Given the description of an element on the screen output the (x, y) to click on. 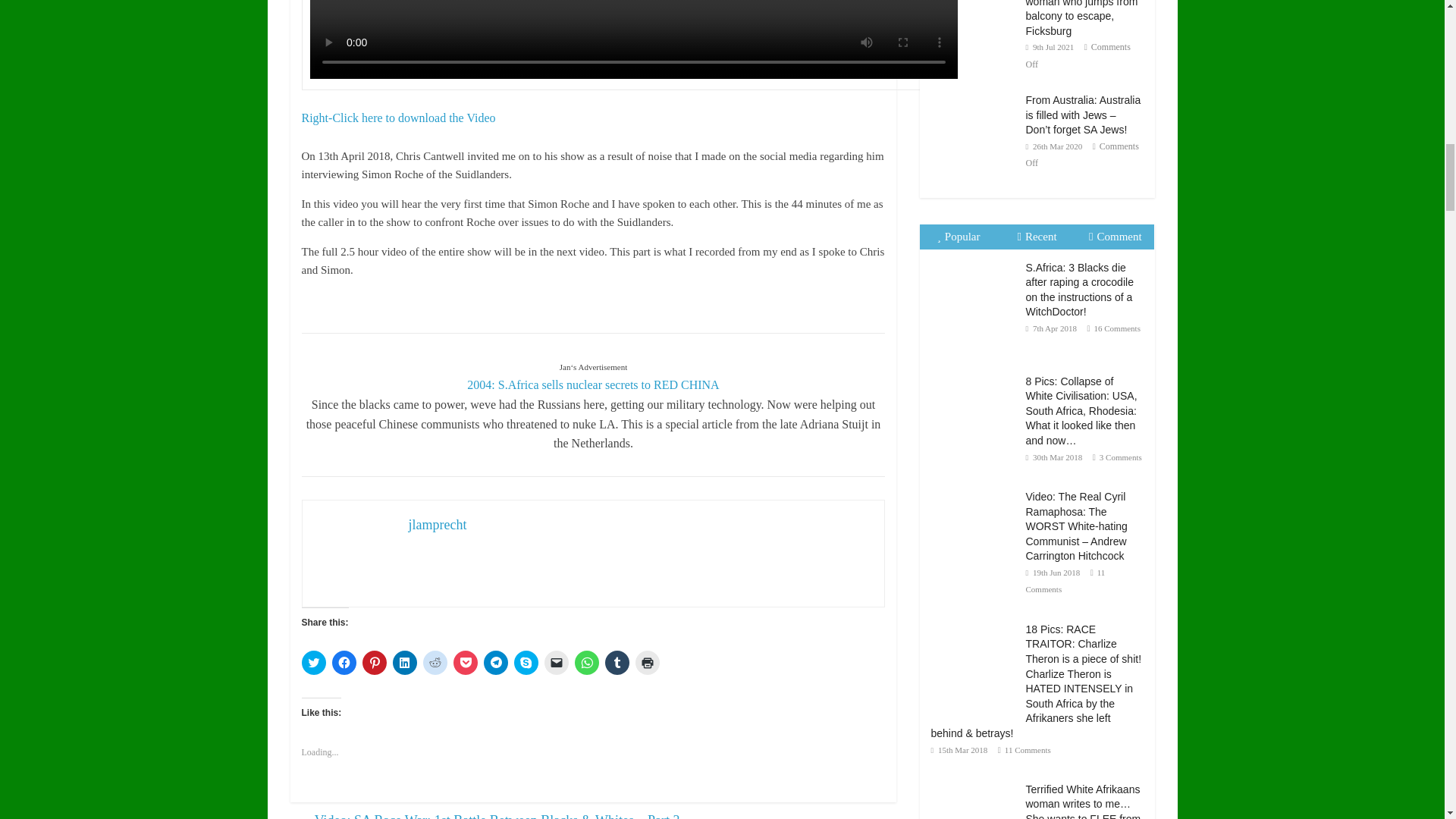
Click to share on Reddit (434, 662)
Right-Click here to download the Video (398, 117)
Click to share on LinkedIn (404, 662)
2004: S.Africa sells nuclear secrets to RED CHINA (593, 384)
jlamprecht (436, 524)
Click to share on Twitter (313, 662)
Click to share on Telegram (495, 662)
Click to share on Facebook (343, 662)
Click to share on Pocket (464, 662)
Click to share on Pinterest (374, 662)
